Given the description of an element on the screen output the (x, y) to click on. 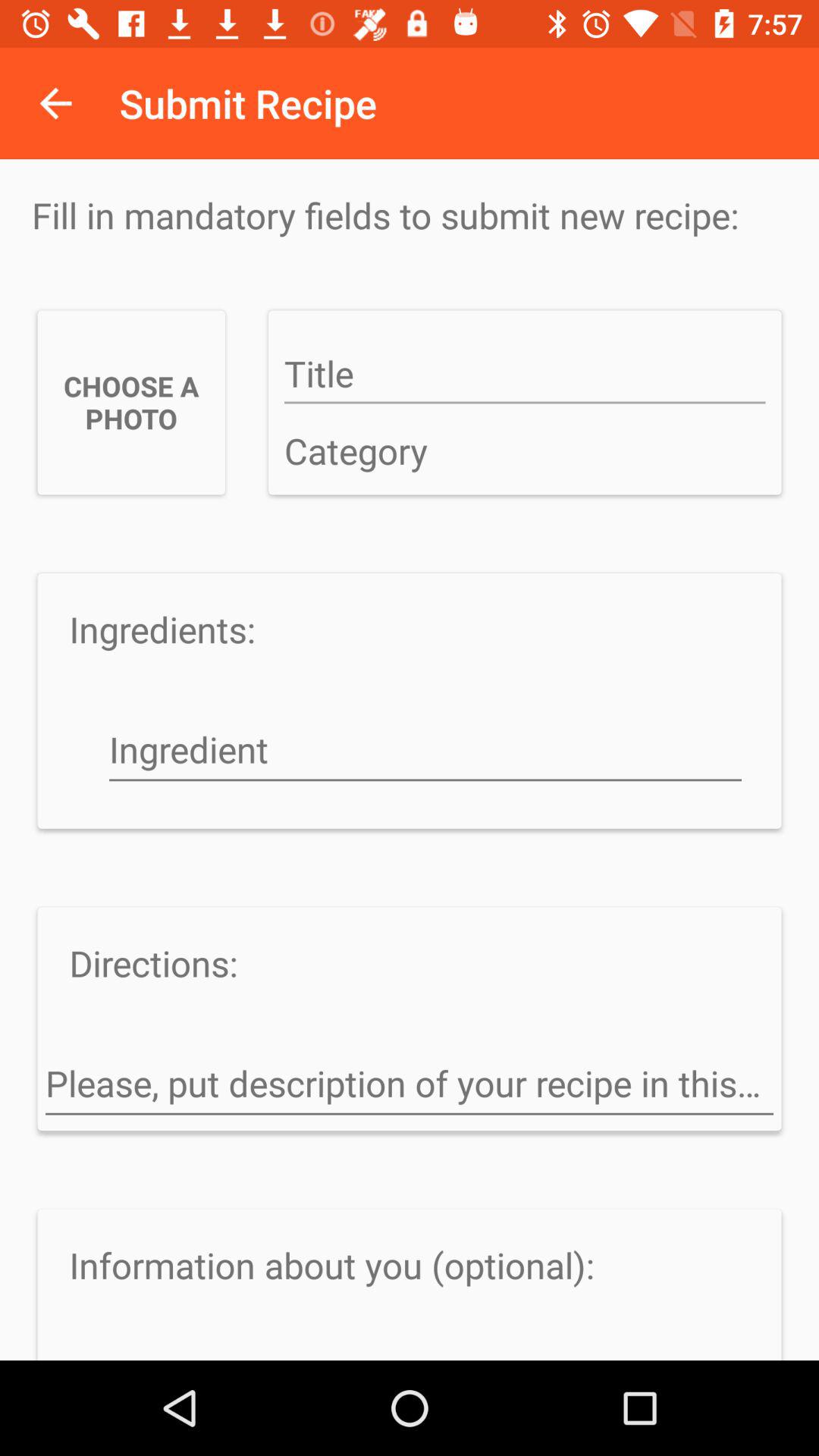
enter photo title (524, 374)
